Given the description of an element on the screen output the (x, y) to click on. 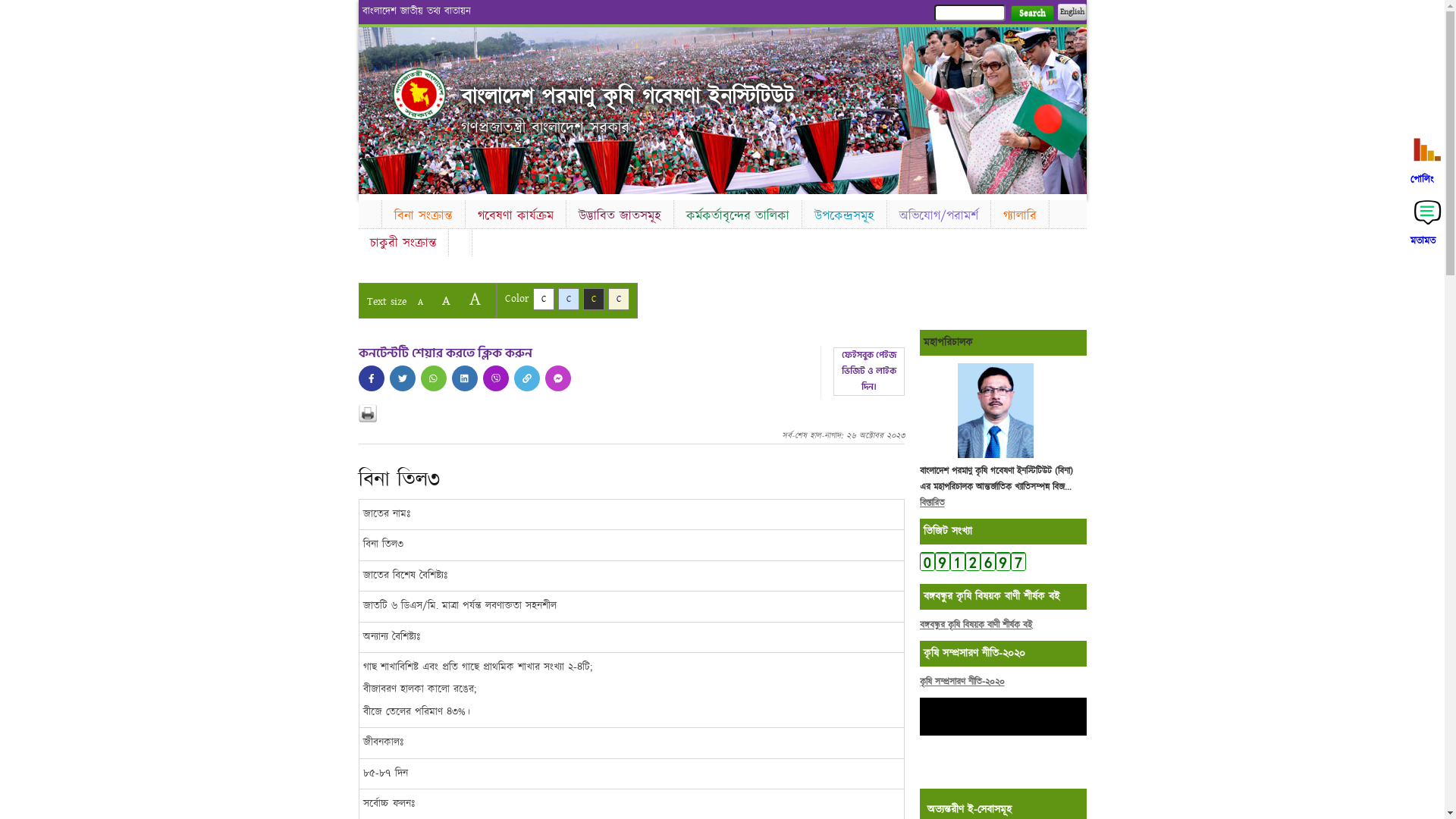
A Element type: text (474, 298)
Search Element type: text (1031, 13)
C Element type: text (568, 299)
English Element type: text (1071, 11)
A Element type: text (445, 300)
Home Element type: hover (418, 93)
C Element type: text (592, 299)
C Element type: text (618, 299)
A Element type: text (419, 301)
Home Element type: hover (368, 211)
C Element type: text (542, 299)
